Given the description of an element on the screen output the (x, y) to click on. 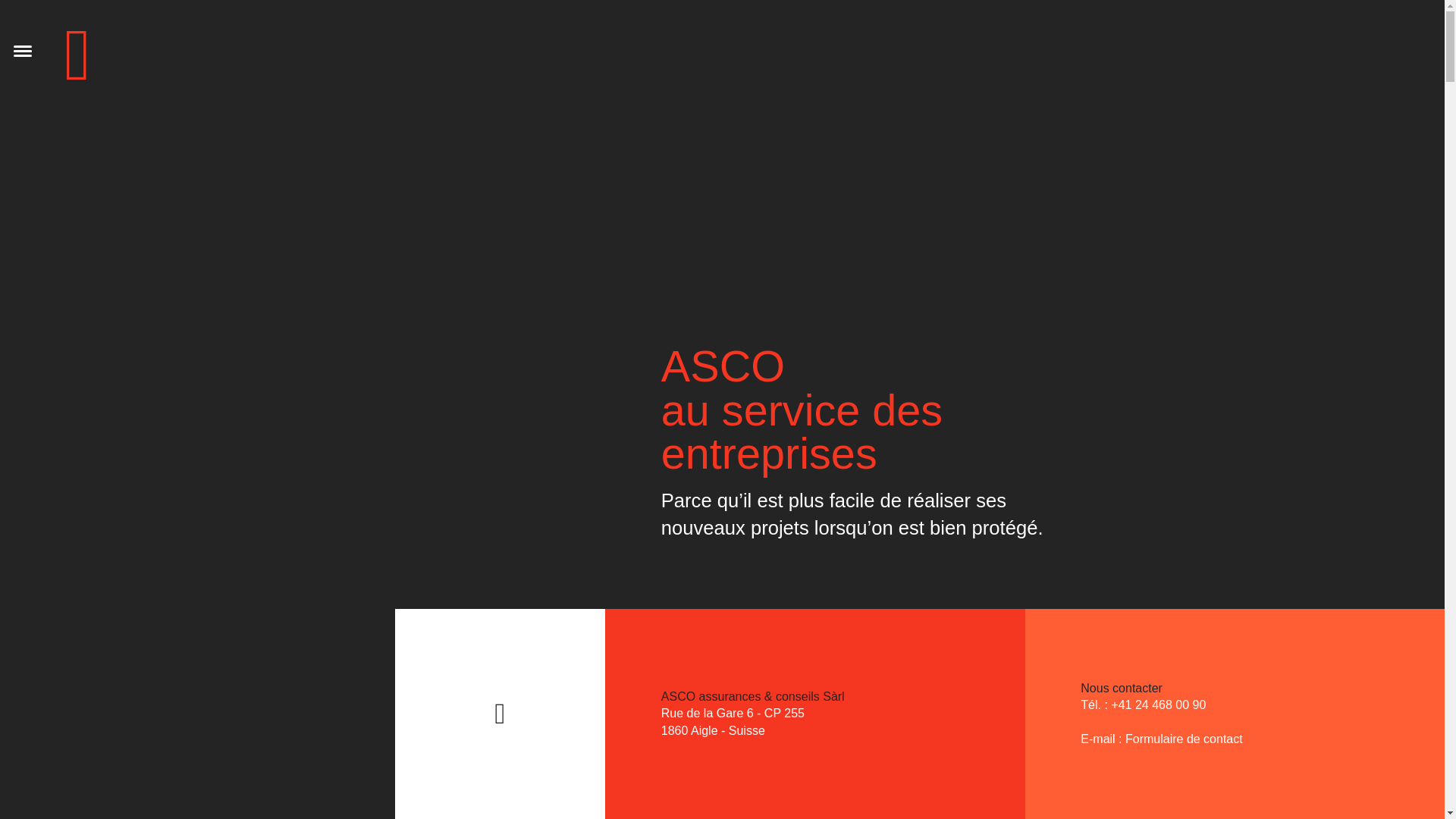
+41 24 468 00 90 Element type: text (1157, 704)
MENU Element type: hover (22, 36)
Formulaire de contact Element type: text (1183, 738)
